Given the description of an element on the screen output the (x, y) to click on. 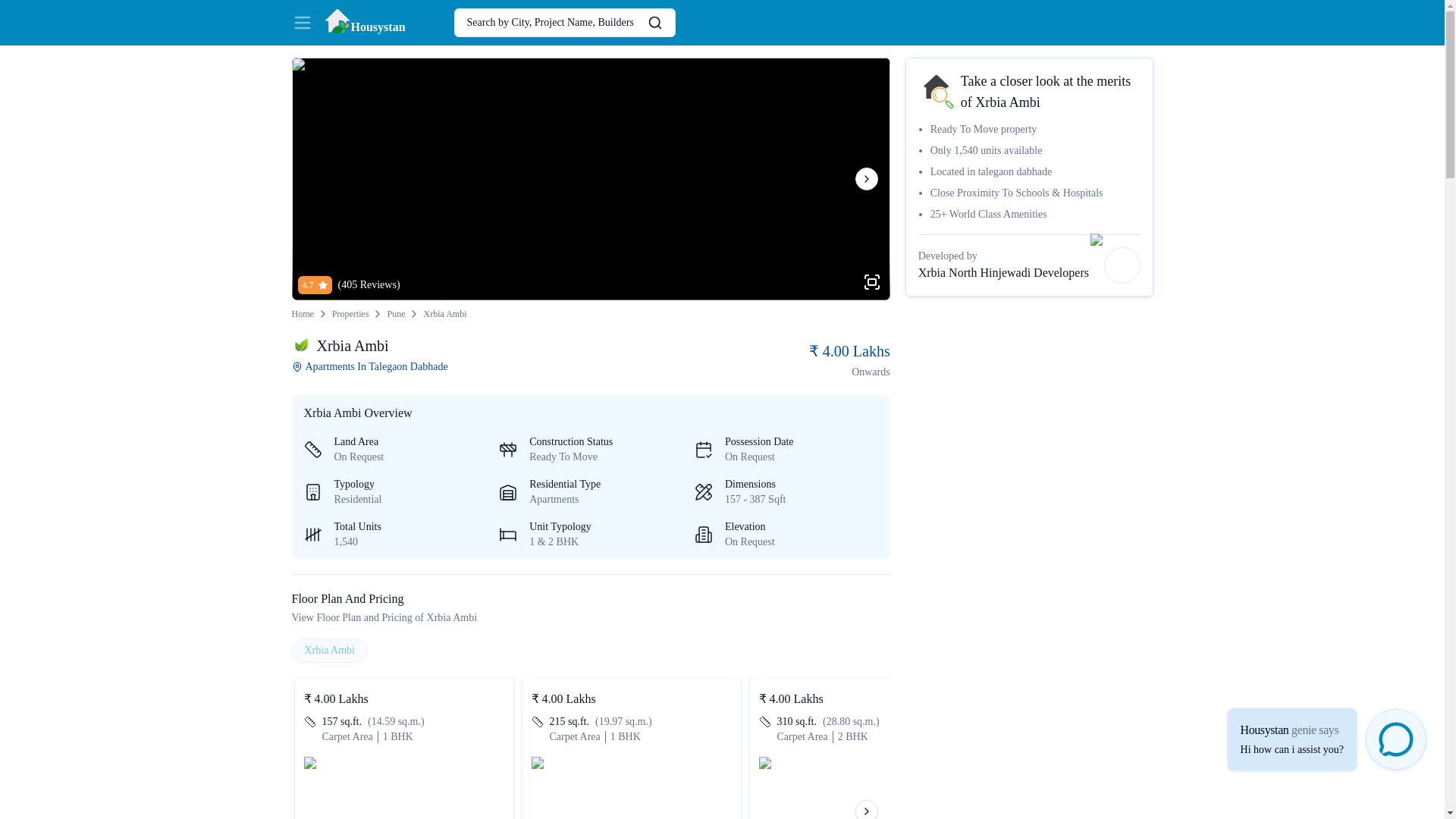
Xrbia Ambi (329, 650)
Housystan (364, 22)
Properties (350, 313)
Xrbia Ambi (444, 313)
Housystan Logo (364, 22)
Scroll right (866, 178)
Xrbia Ambi (590, 650)
Full screen (590, 313)
menu (871, 282)
Search properties (302, 22)
Pune (564, 22)
Home (1029, 265)
Search by City, Project Name, Builders (395, 313)
